Given the description of an element on the screen output the (x, y) to click on. 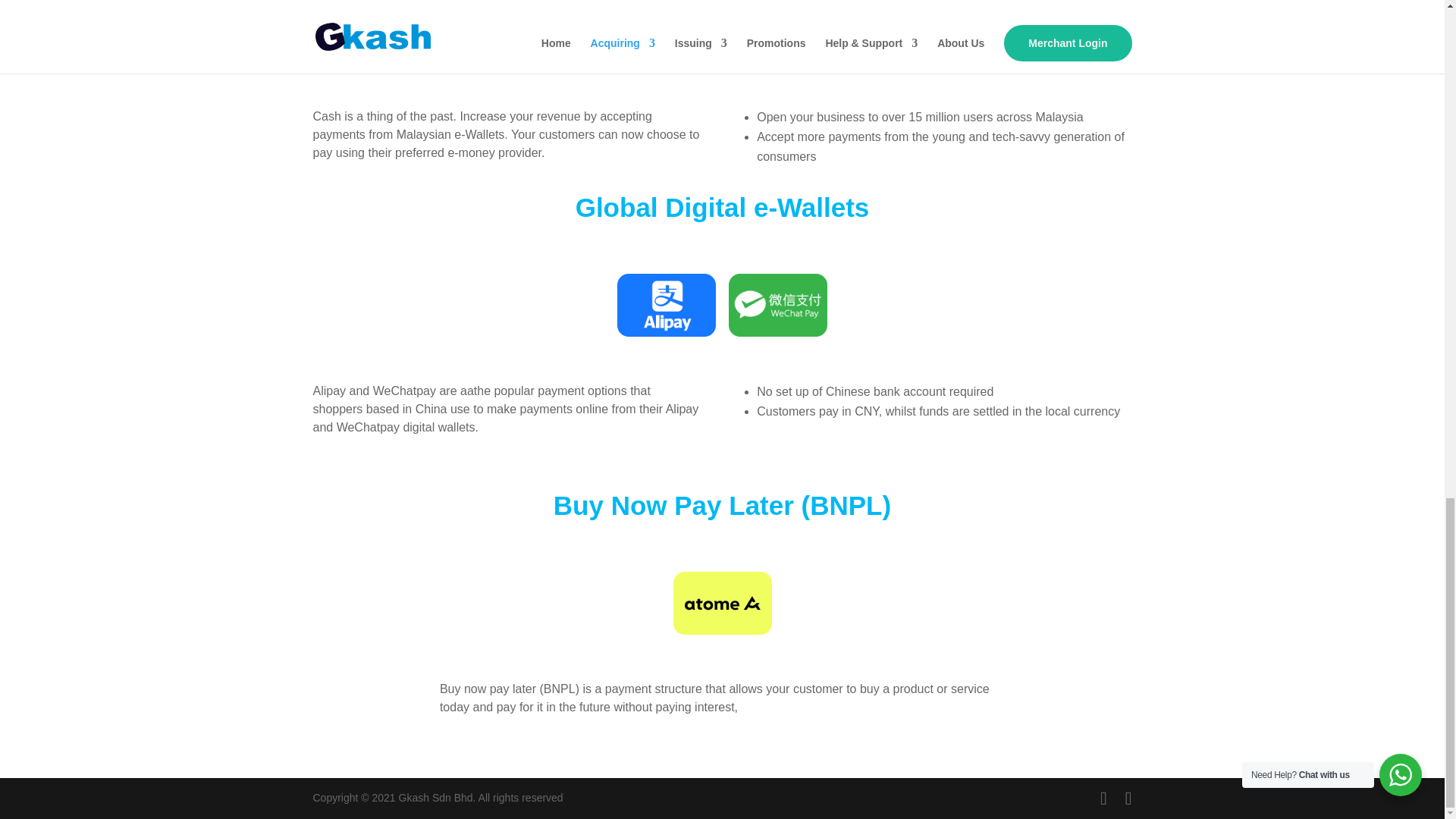
china-digital-wallet (721, 305)
e-wallet (722, 25)
